Given the description of an element on the screen output the (x, y) to click on. 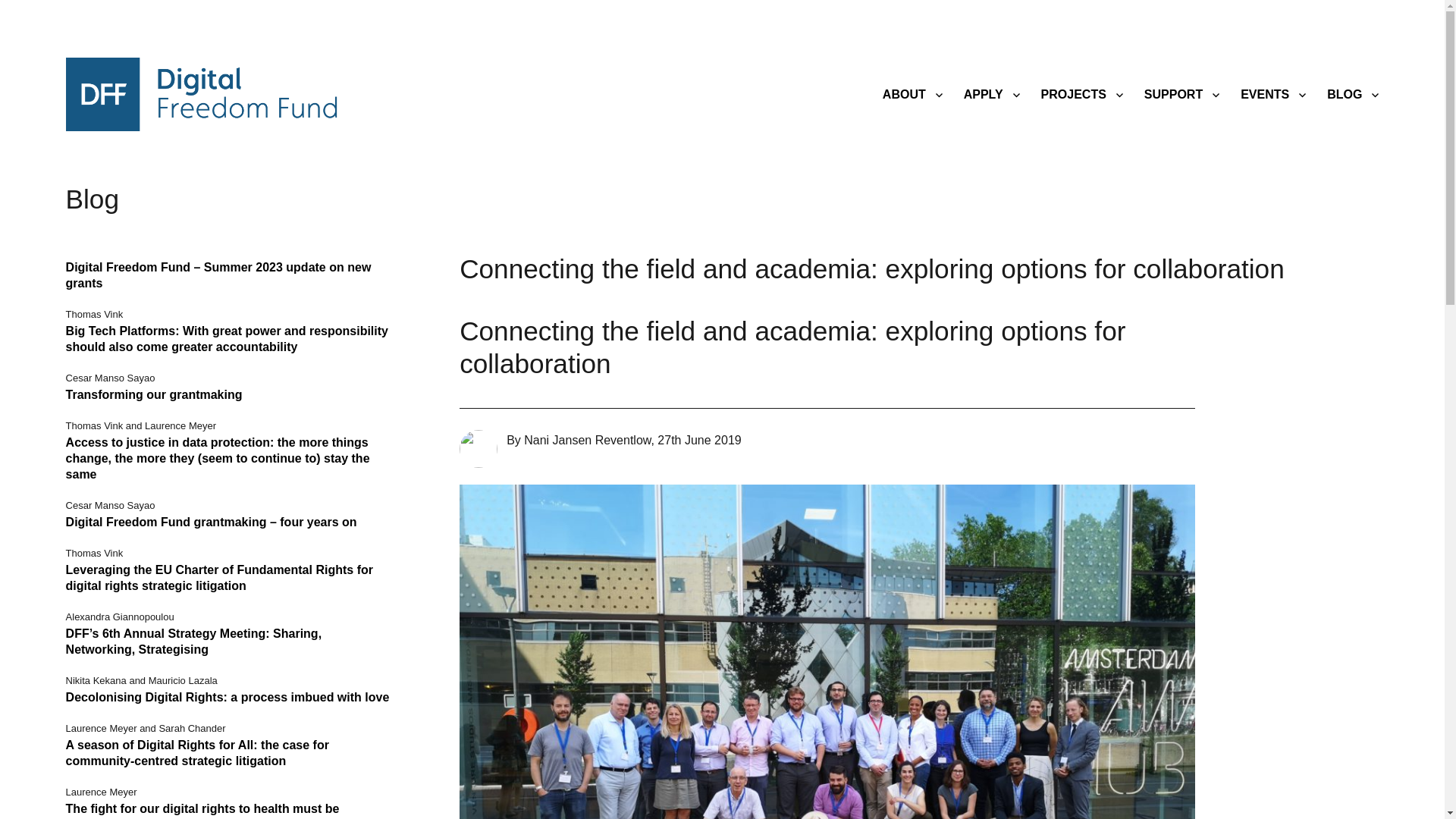
PROJECTS (1082, 94)
Digital Freedom Fund (202, 92)
APPLY (991, 94)
ABOUT (912, 94)
